Given the description of an element on the screen output the (x, y) to click on. 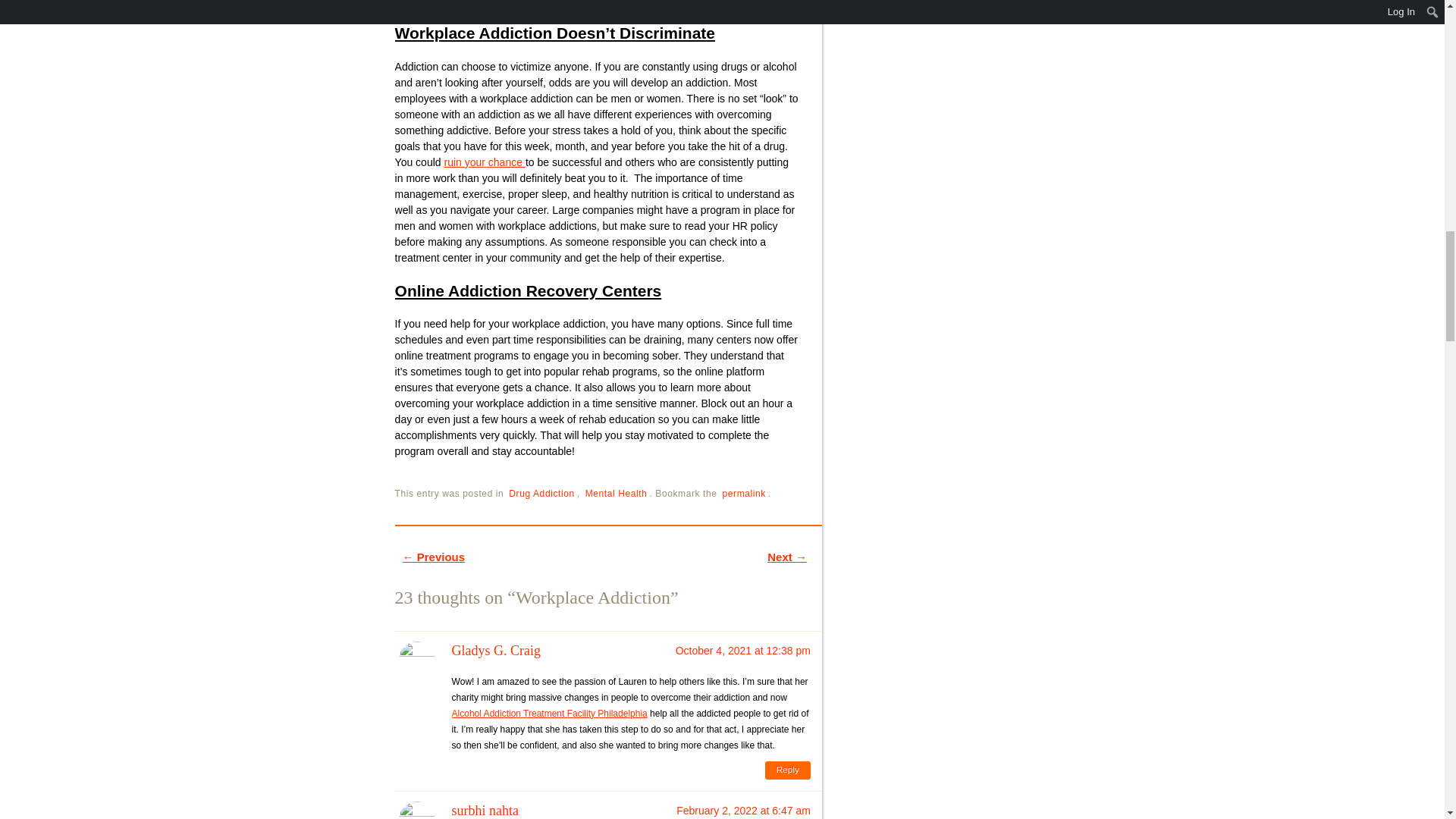
Drug Addiction (541, 493)
Permalink to Workplace Addiction (744, 493)
Reply (787, 770)
addiction treatment professionals  (497, 2)
permalink (744, 493)
ruin your chance  (484, 162)
Mental Health (616, 493)
October 4, 2021 at 12:38 pm (742, 650)
February 2, 2022 at 6:47 am (743, 810)
Alcohol Addiction Treatment Facility Philadelphia (549, 713)
